Given the description of an element on the screen output the (x, y) to click on. 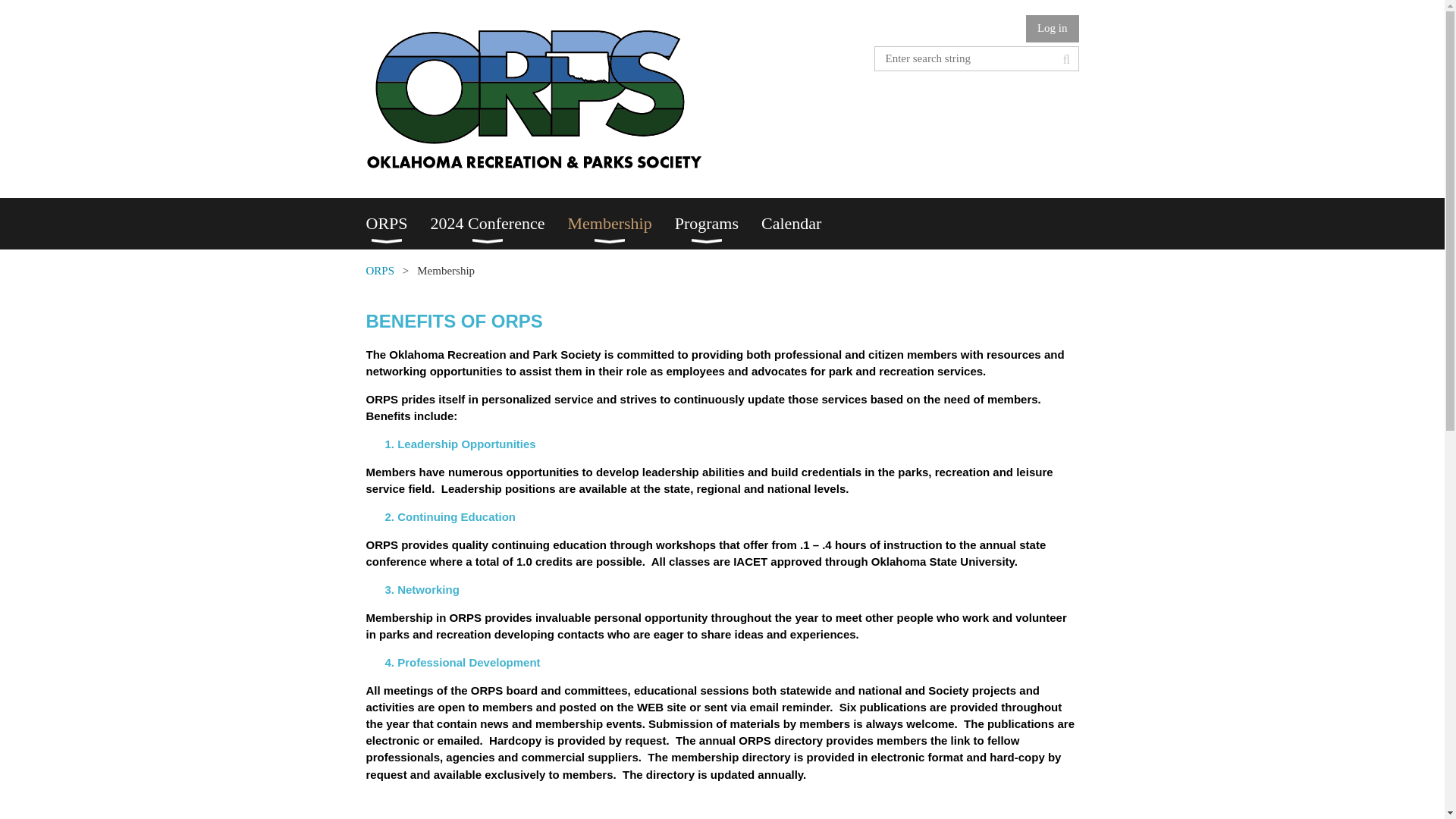
2024 Conference (498, 223)
Membership (620, 223)
Log in (1052, 28)
Programs (718, 223)
ORPS (397, 223)
Programs (718, 223)
2024 Conference (498, 223)
ORPS (397, 223)
Calendar (802, 223)
ORPS (379, 270)
